Given the description of an element on the screen output the (x, y) to click on. 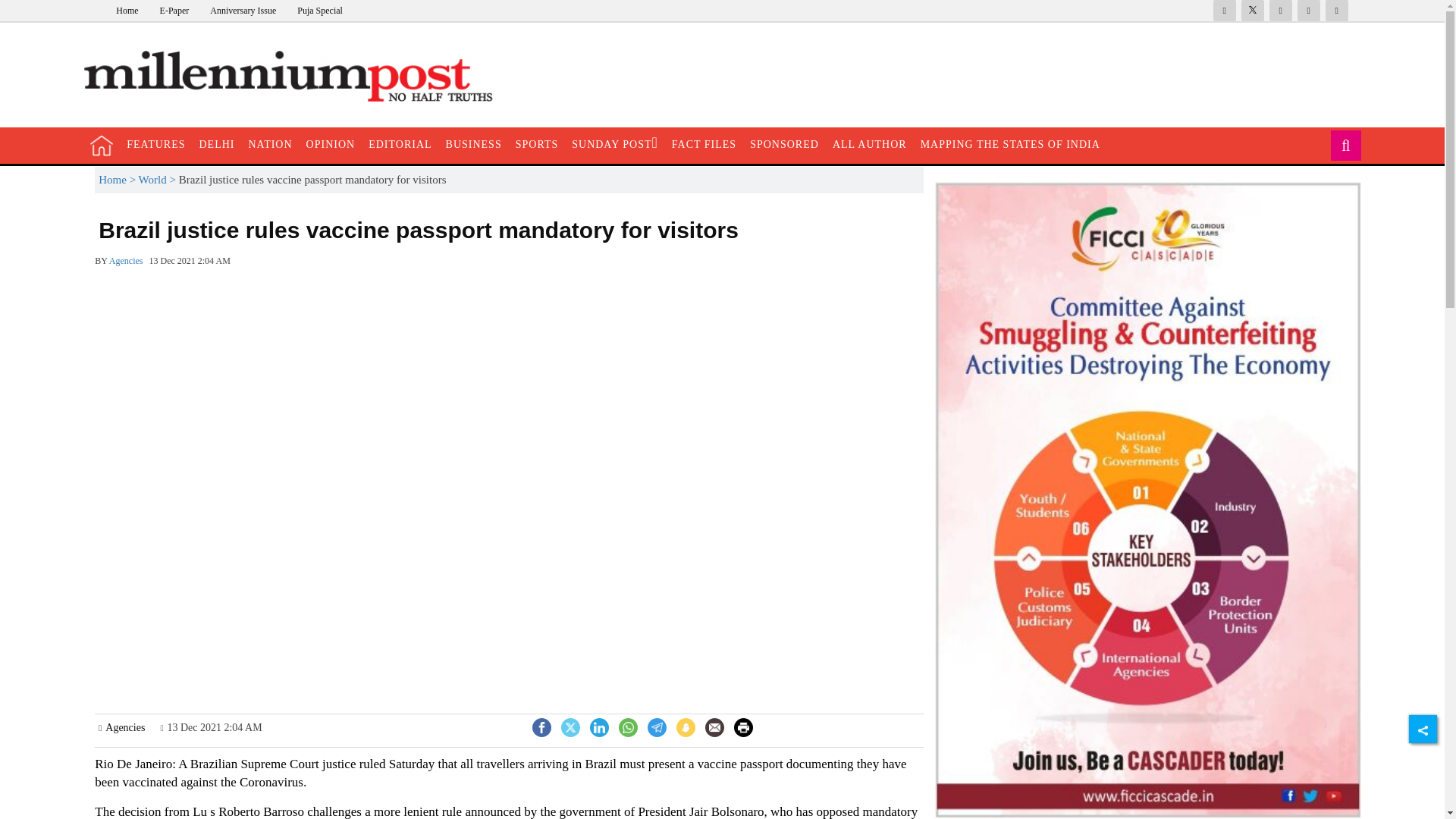
SUNDAY POST (614, 143)
telegram (656, 727)
linkedin (599, 727)
FEATURES (155, 143)
Print (742, 725)
OPINION (330, 143)
DELHI (216, 143)
LinkedIn (598, 725)
NATION (269, 143)
EDITORIAL (399, 143)
FACT FILES (703, 143)
Share by Email (713, 729)
E-Paper (174, 9)
